Given the description of an element on the screen output the (x, y) to click on. 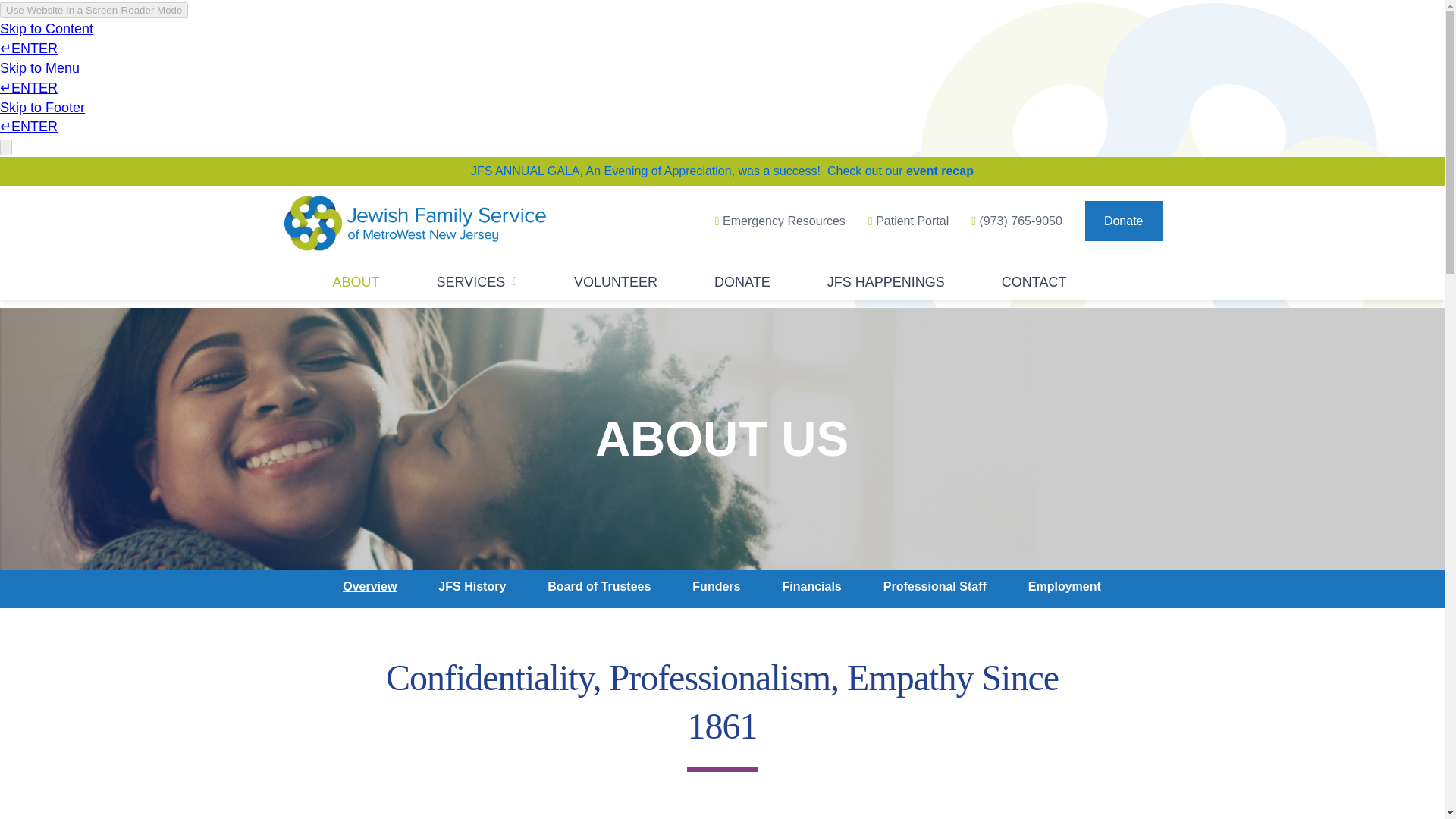
Patient Portal (919, 220)
Donate (1122, 220)
event recap (939, 170)
Emergency Resources (790, 220)
